Given the description of an element on the screen output the (x, y) to click on. 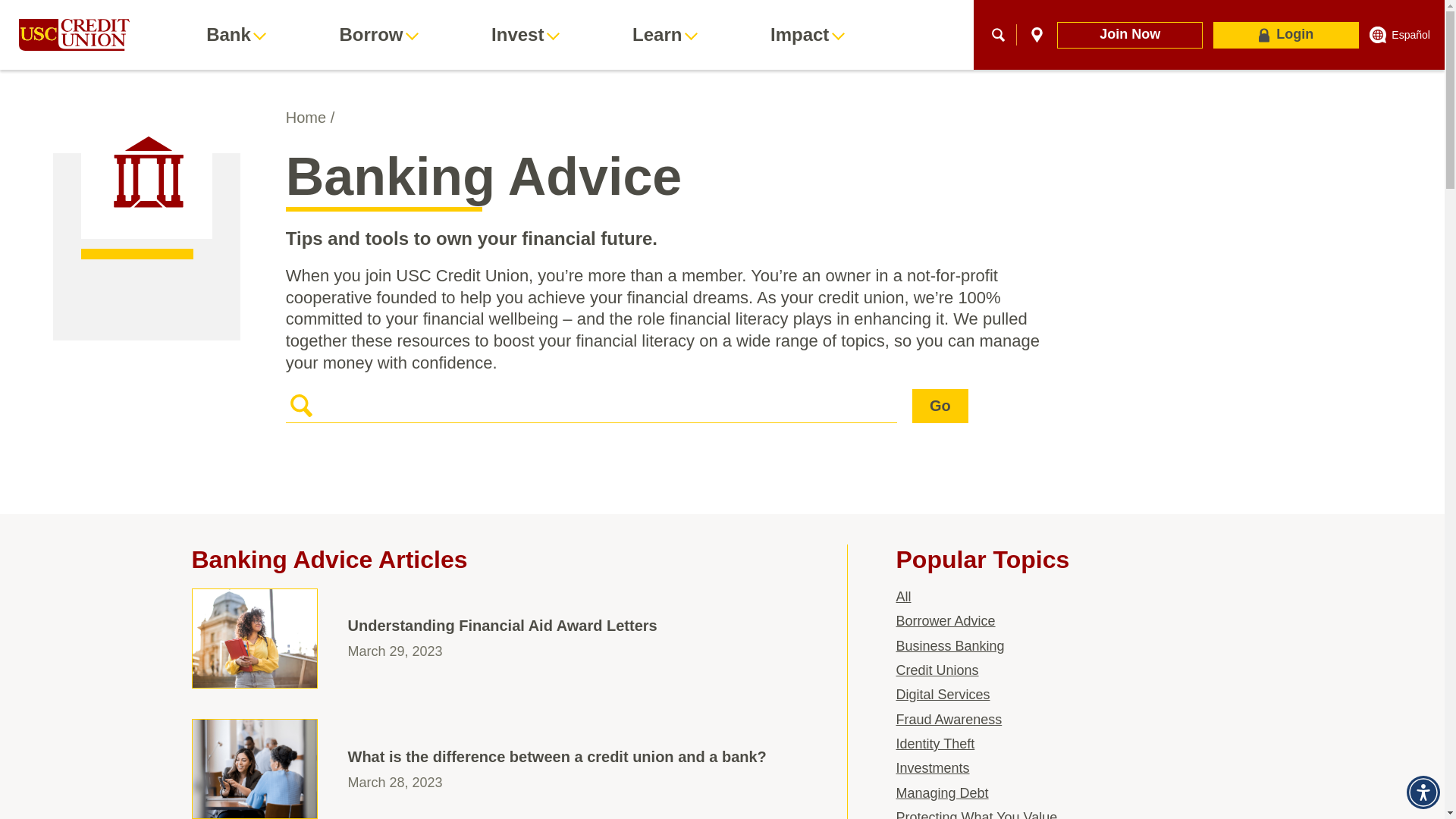
Go (940, 406)
Accessibility Menu (1422, 792)
